Given the description of an element on the screen output the (x, y) to click on. 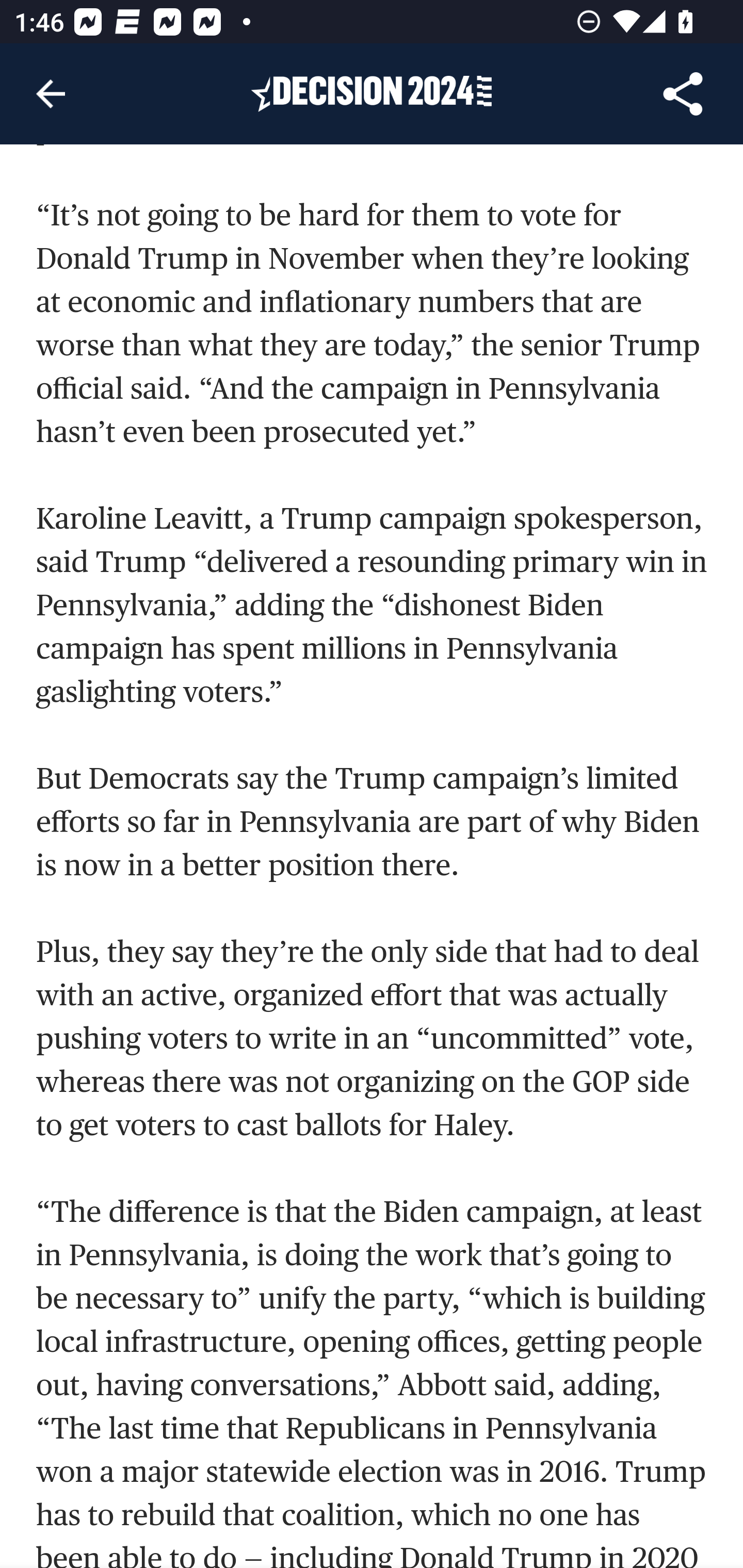
Navigate up (50, 93)
Share Article, button (683, 94)
Header, Decision 2024 (371, 93)
